Given the description of an element on the screen output the (x, y) to click on. 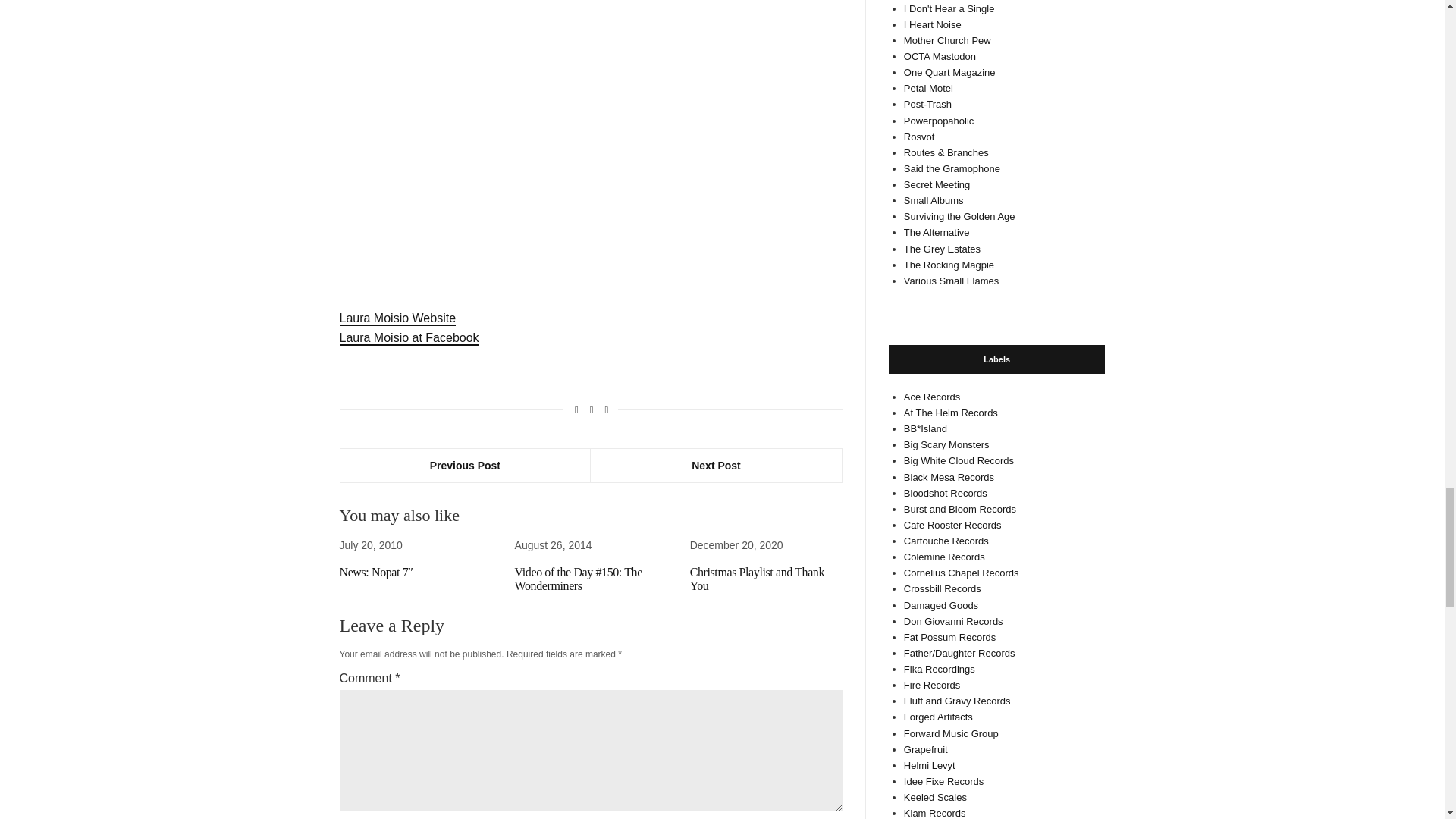
Laura Moisio at Facebook (409, 338)
Laura Moisio Website (398, 318)
Next Post (716, 465)
Previous Post (465, 465)
Christmas Playlist and Thank You (757, 578)
